Given the description of an element on the screen output the (x, y) to click on. 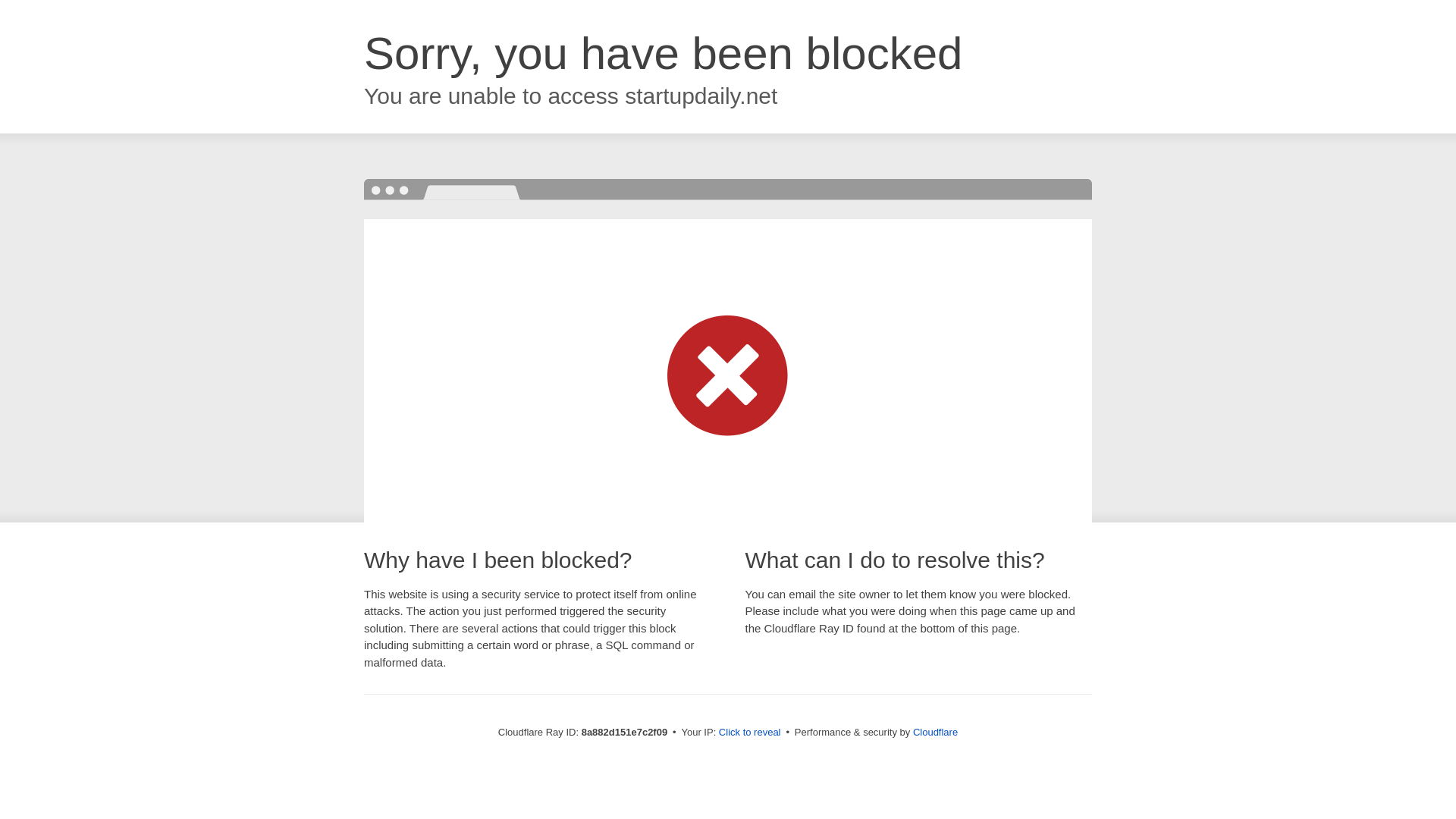
Cloudflare (935, 731)
Click to reveal (749, 732)
